Given the description of an element on the screen output the (x, y) to click on. 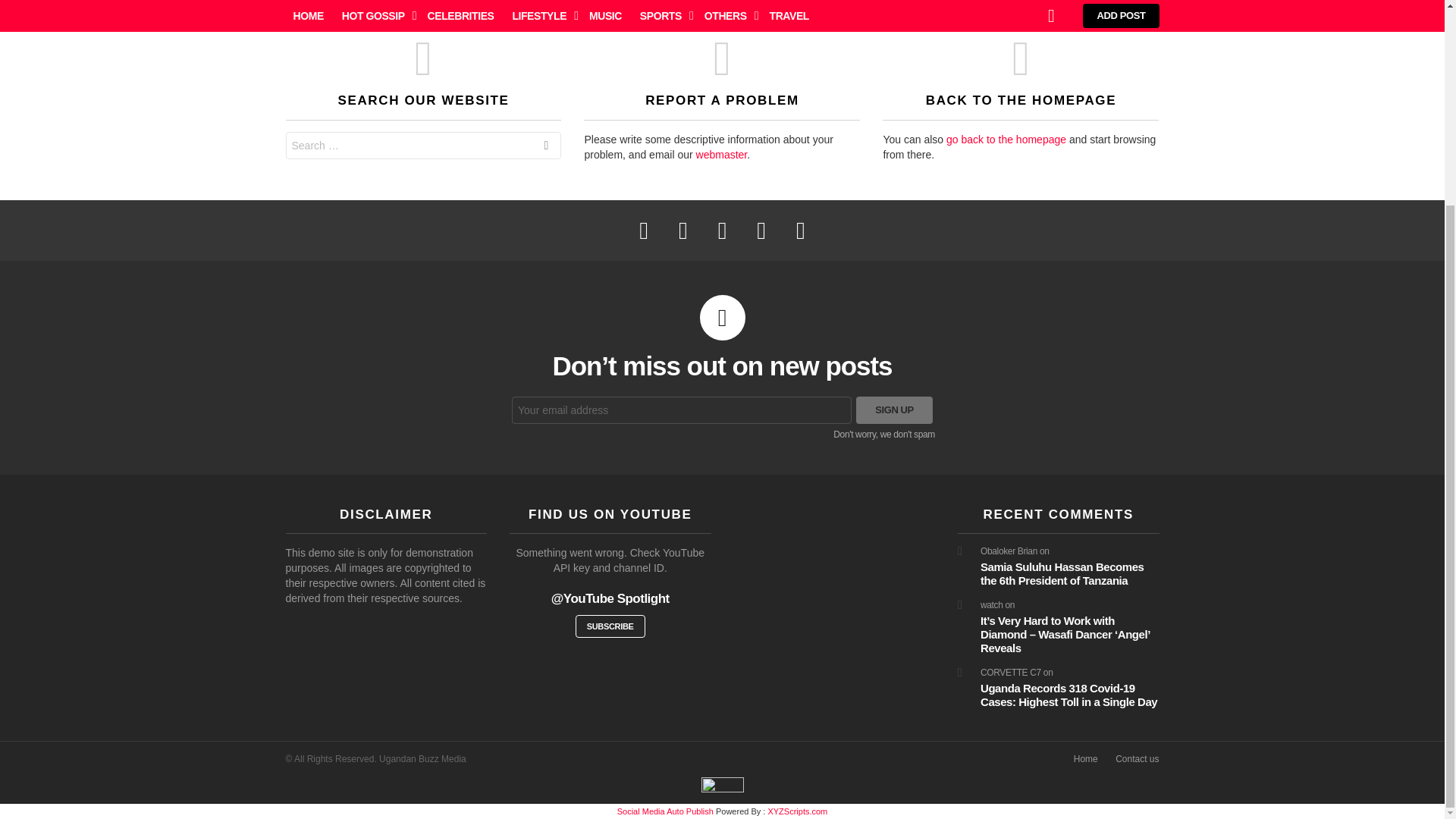
Search for: (422, 144)
Sign up (894, 410)
